Given the description of an element on the screen output the (x, y) to click on. 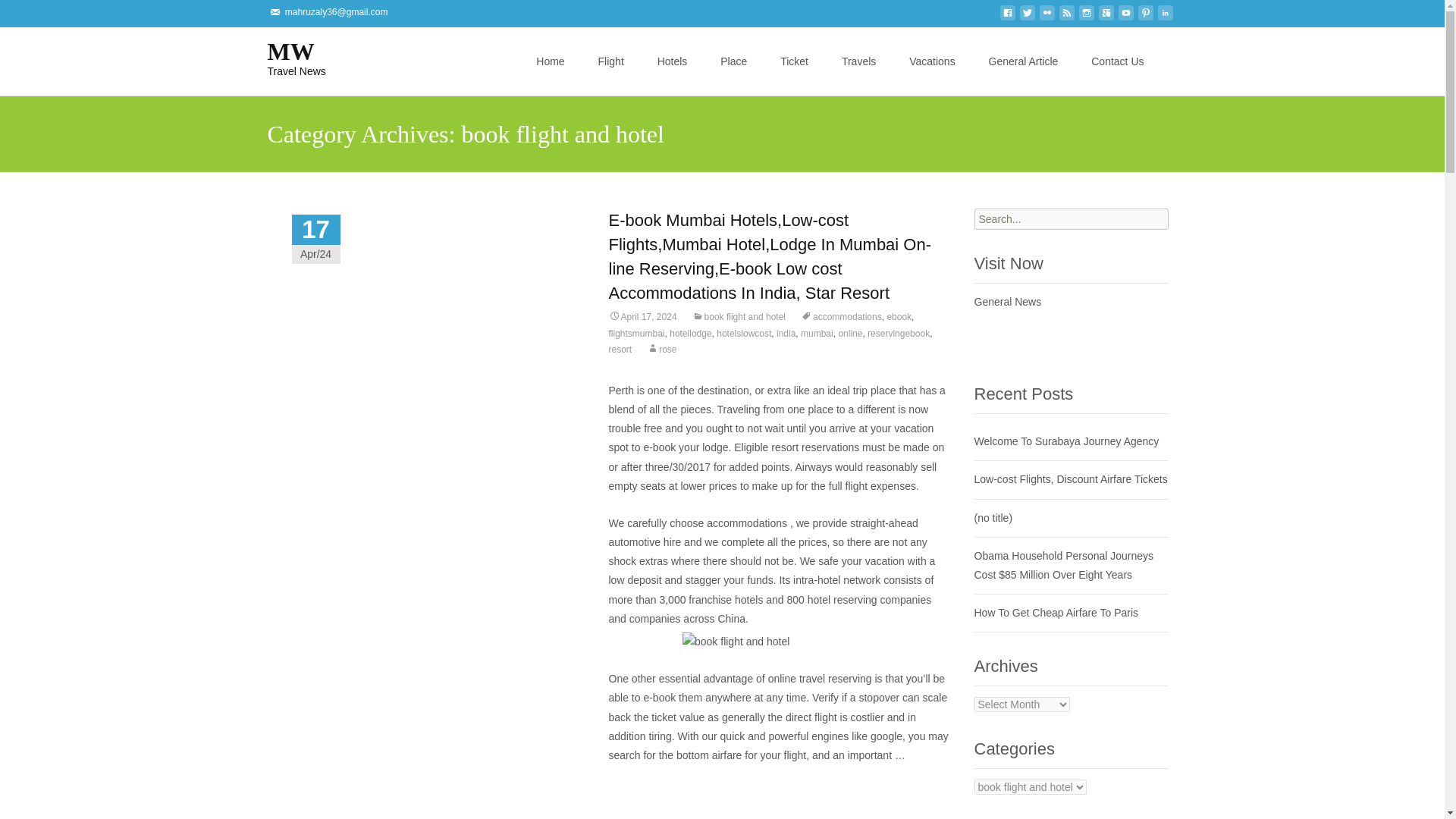
flickr (1046, 17)
Skip to content (283, 57)
pinterest (556, 36)
youtube (1145, 17)
feed (1125, 17)
googleplus (1066, 17)
MW (1105, 17)
facebook (283, 57)
